Given the description of an element on the screen output the (x, y) to click on. 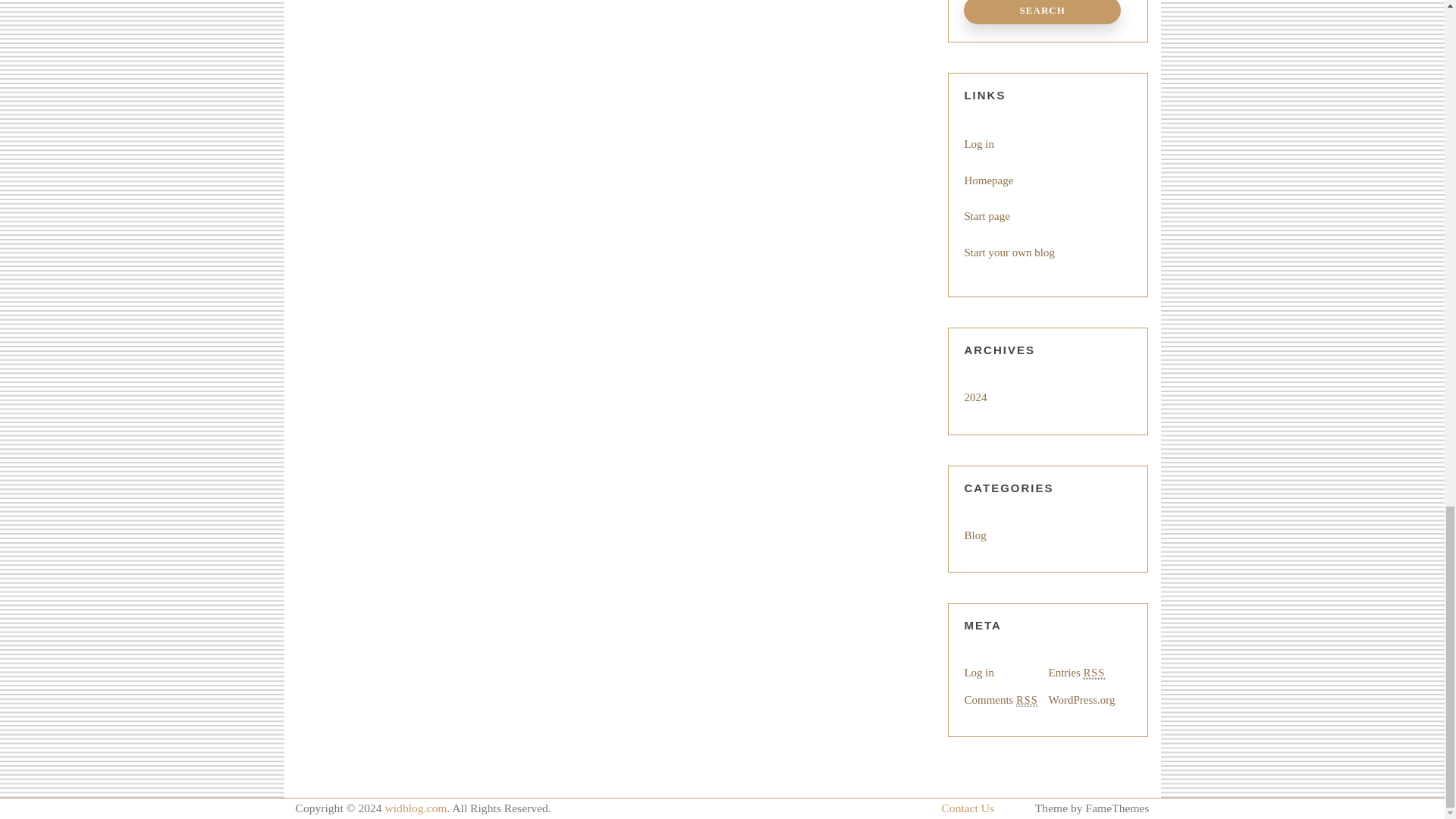
Log in (978, 143)
Comments RSS (999, 699)
Search (1041, 12)
Log in (978, 672)
Blog (974, 535)
Start page (986, 215)
WordPress.org (1081, 699)
Entries RSS (1076, 672)
Start your own blog (1008, 252)
2024 (975, 397)
Homepage (988, 180)
widblog.com (415, 807)
Contact Us (967, 807)
Search (1041, 12)
